Given the description of an element on the screen output the (x, y) to click on. 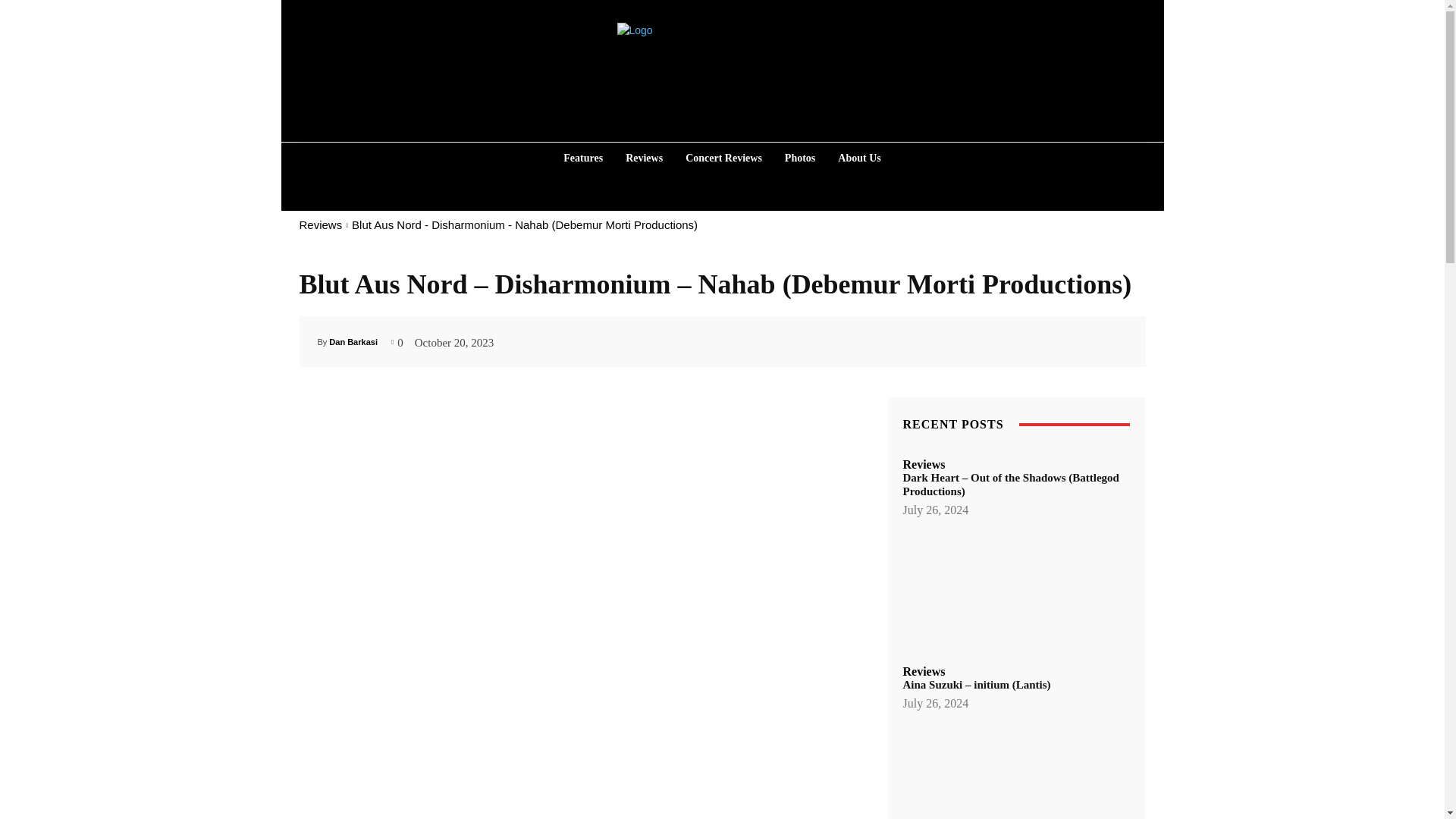
Dan Barkasi (353, 341)
Photos (799, 158)
Features (583, 158)
0 (397, 340)
Reviews (643, 158)
Reviews (320, 224)
Concert Reviews (724, 158)
About Us (858, 158)
View all posts in Reviews (320, 224)
